Given the description of an element on the screen output the (x, y) to click on. 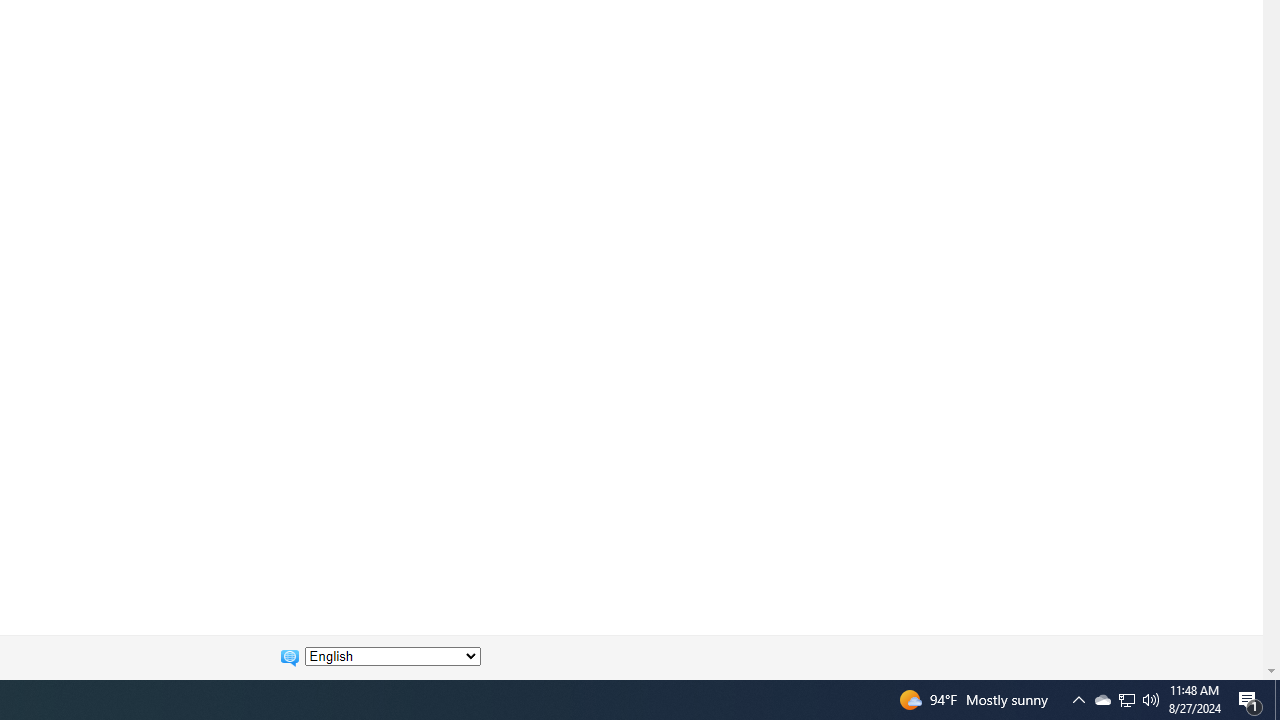
Change language: (392, 656)
